Given the description of an element on the screen output the (x, y) to click on. 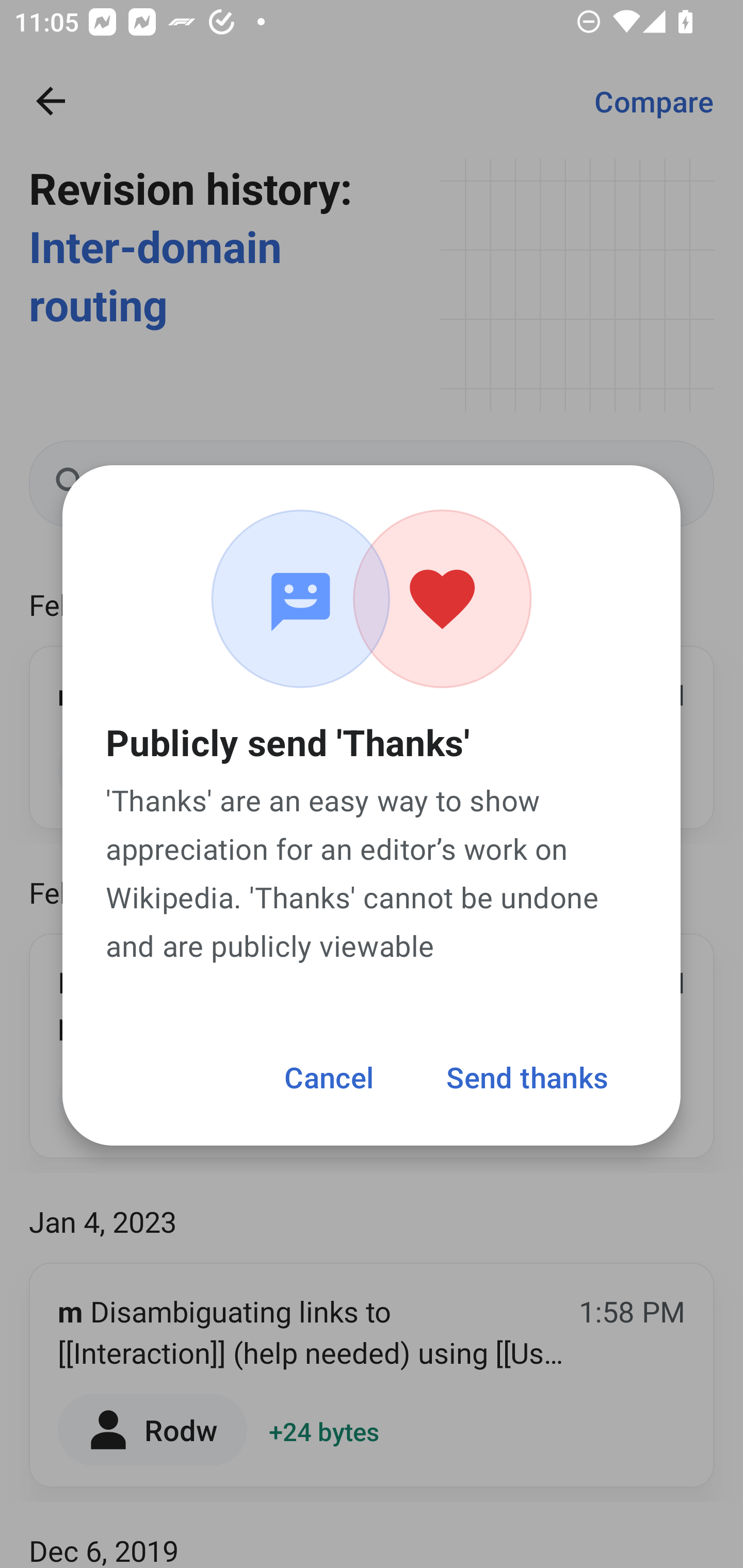
Cancel (328, 1076)
Send thanks (526, 1076)
